Given the description of an element on the screen output the (x, y) to click on. 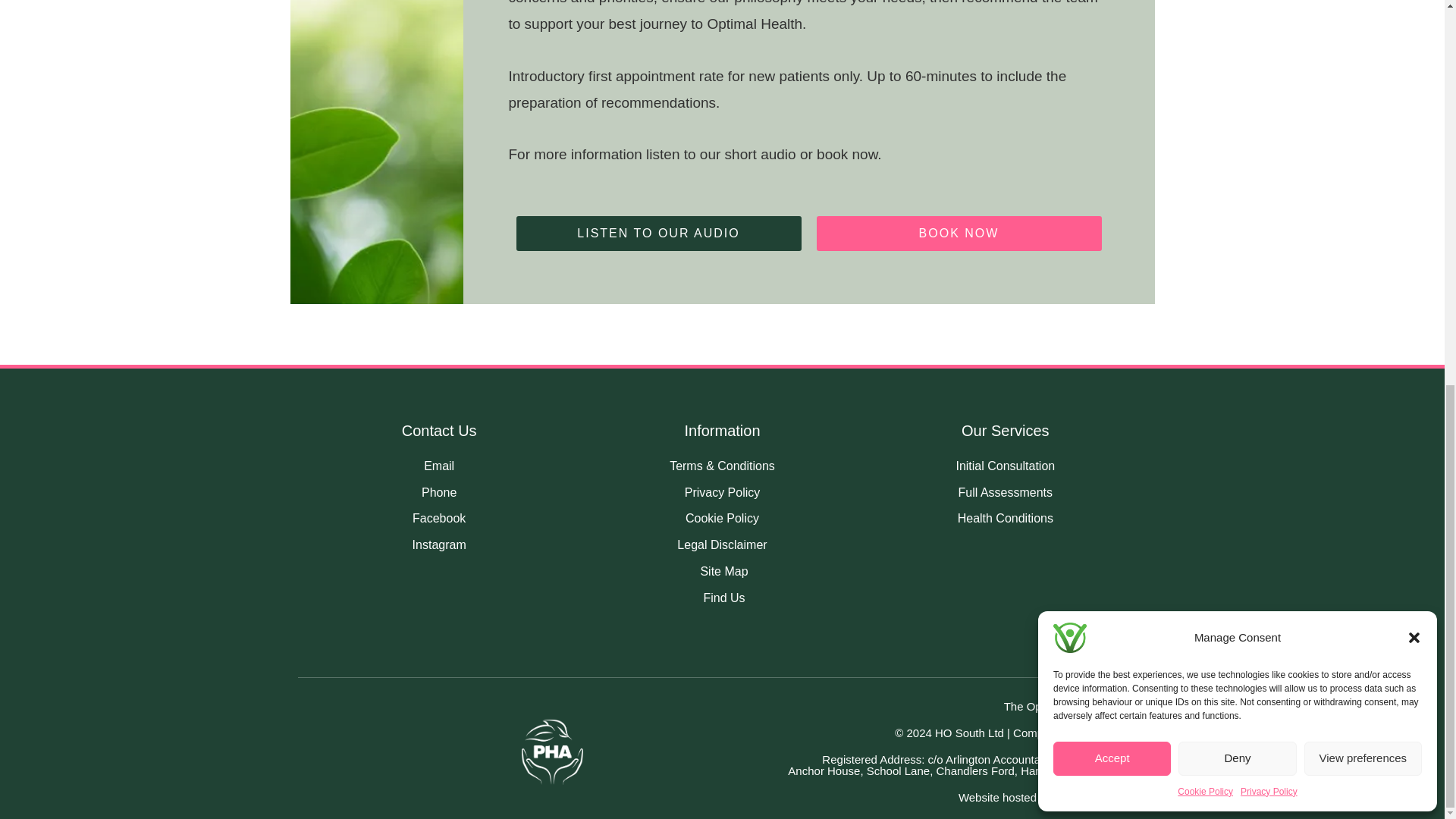
Cookie Policy (1205, 66)
Deny (1236, 33)
Privacy Policy (1268, 66)
View preferences (1363, 33)
Accept (1111, 33)
